Given the description of an element on the screen output the (x, y) to click on. 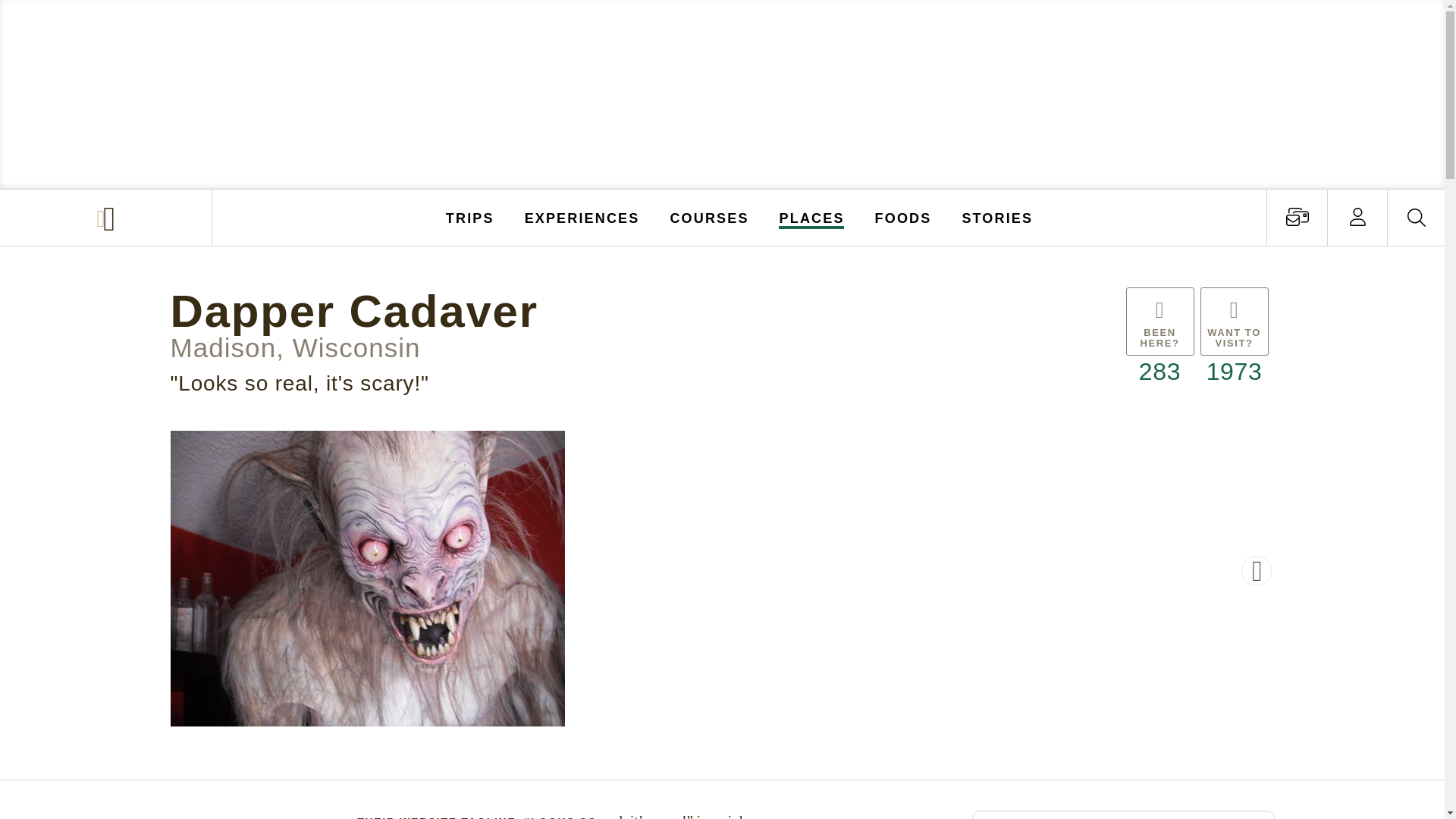
TRIPS (469, 217)
EXPERIENCES (582, 217)
COURSES (707, 217)
PLACES (812, 217)
